Given the description of an element on the screen output the (x, y) to click on. 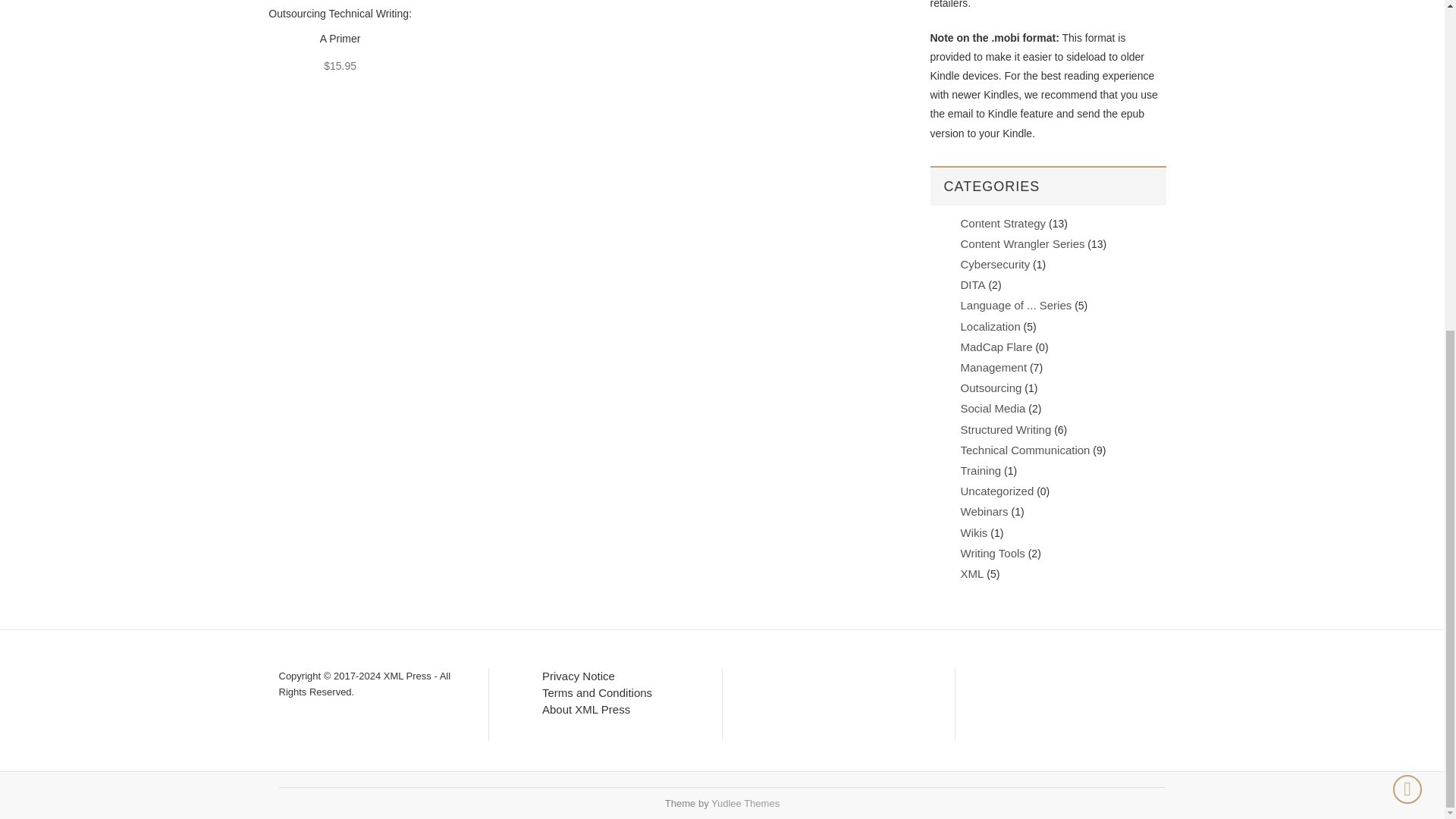
Webinars (983, 511)
Social Media (992, 408)
Yudlee Themes (744, 803)
Language of ... Series (1015, 305)
Terms and Conditions (596, 692)
XML (971, 573)
Cybersecurity (994, 264)
About XML Press (585, 708)
Training (980, 470)
Privacy Notice (577, 675)
Content Wrangler Series (1021, 243)
Outsourcing (990, 387)
Content Strategy (1002, 223)
Technical Communication (1024, 449)
Uncategorized (996, 490)
